Given the description of an element on the screen output the (x, y) to click on. 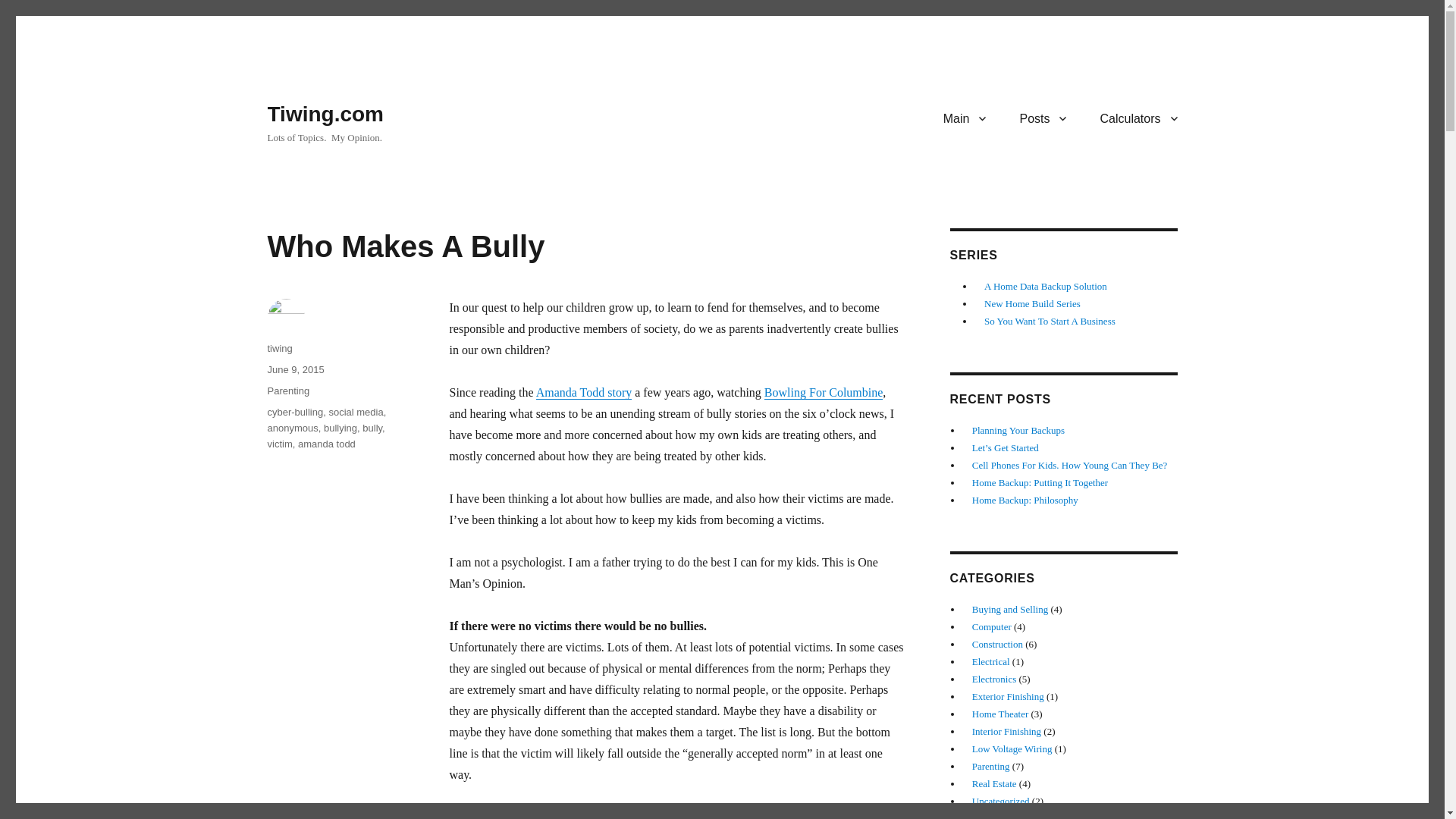
So You Want To Start A Business (1049, 320)
bullying (339, 428)
cyber-bulling (294, 411)
bully (371, 428)
Calculators (1138, 118)
Tiwing.com (325, 114)
Bowling For Columbine (823, 391)
Posts (1043, 118)
amanda todd (326, 443)
victim (279, 443)
